Given the description of an element on the screen output the (x, y) to click on. 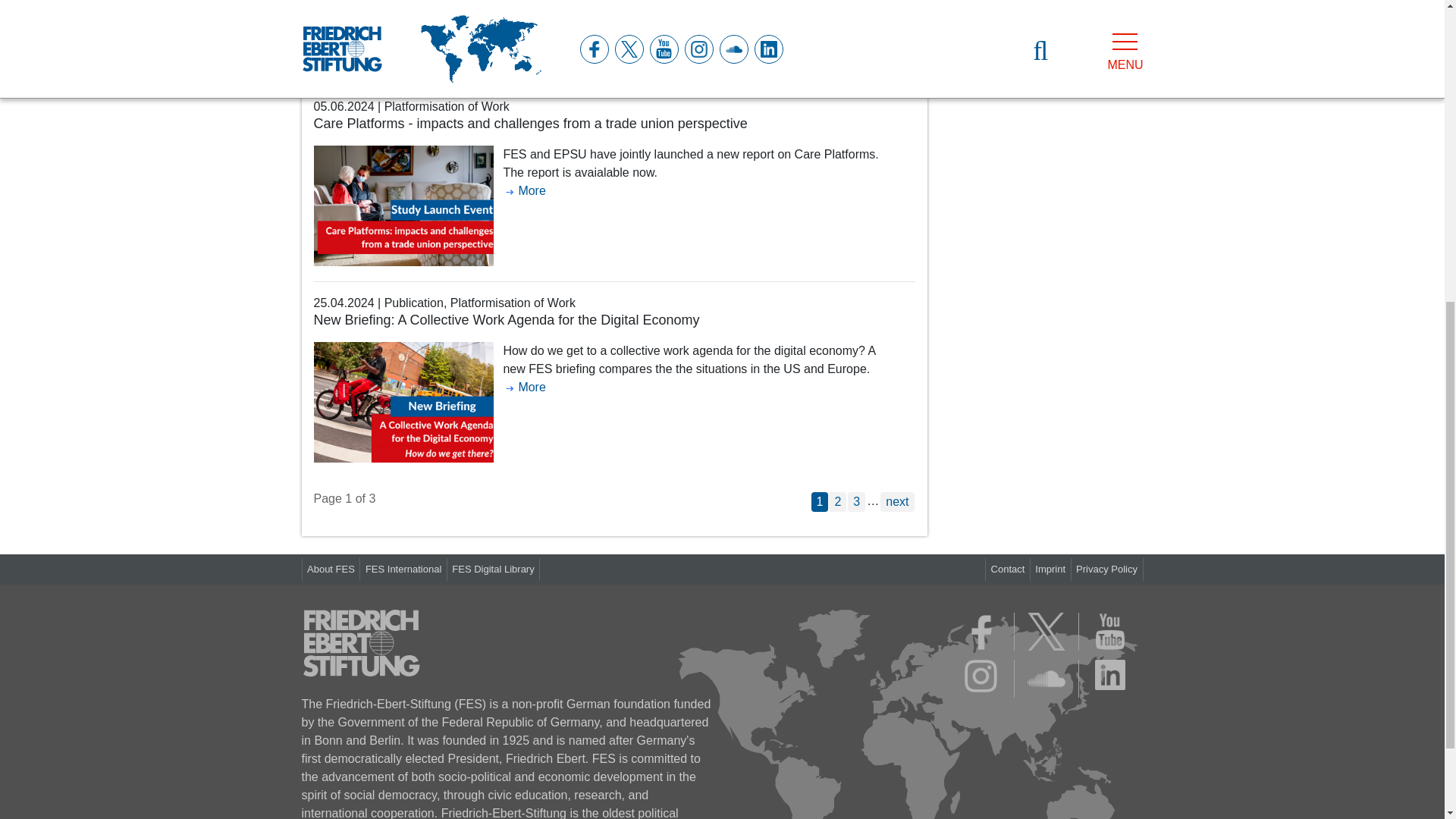
More (523, 11)
